Given the description of an element on the screen output the (x, y) to click on. 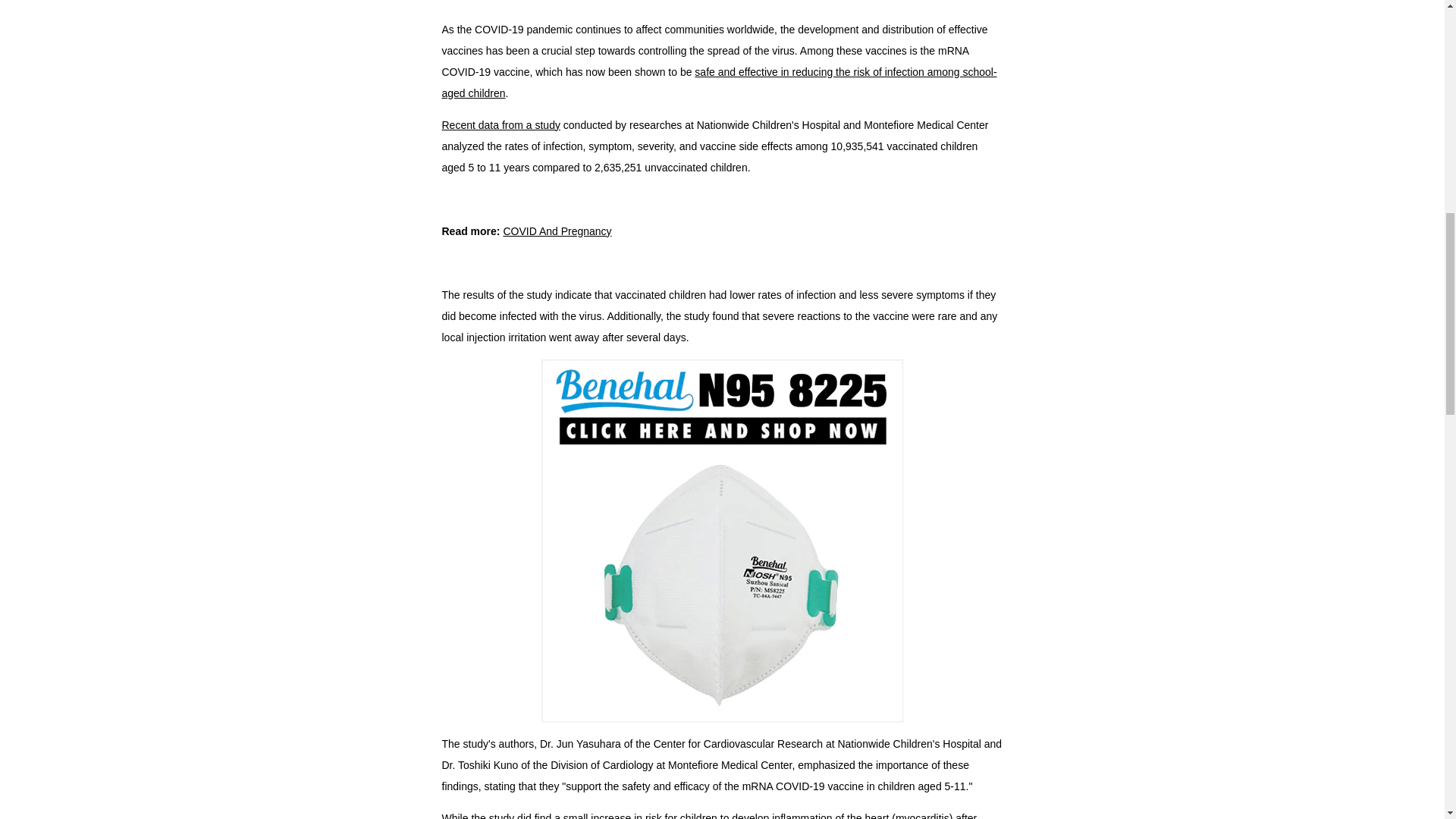
COVID vaccines safe and effective for kids (718, 82)
COVID And Pregnancy (556, 231)
